Given the description of an element on the screen output the (x, y) to click on. 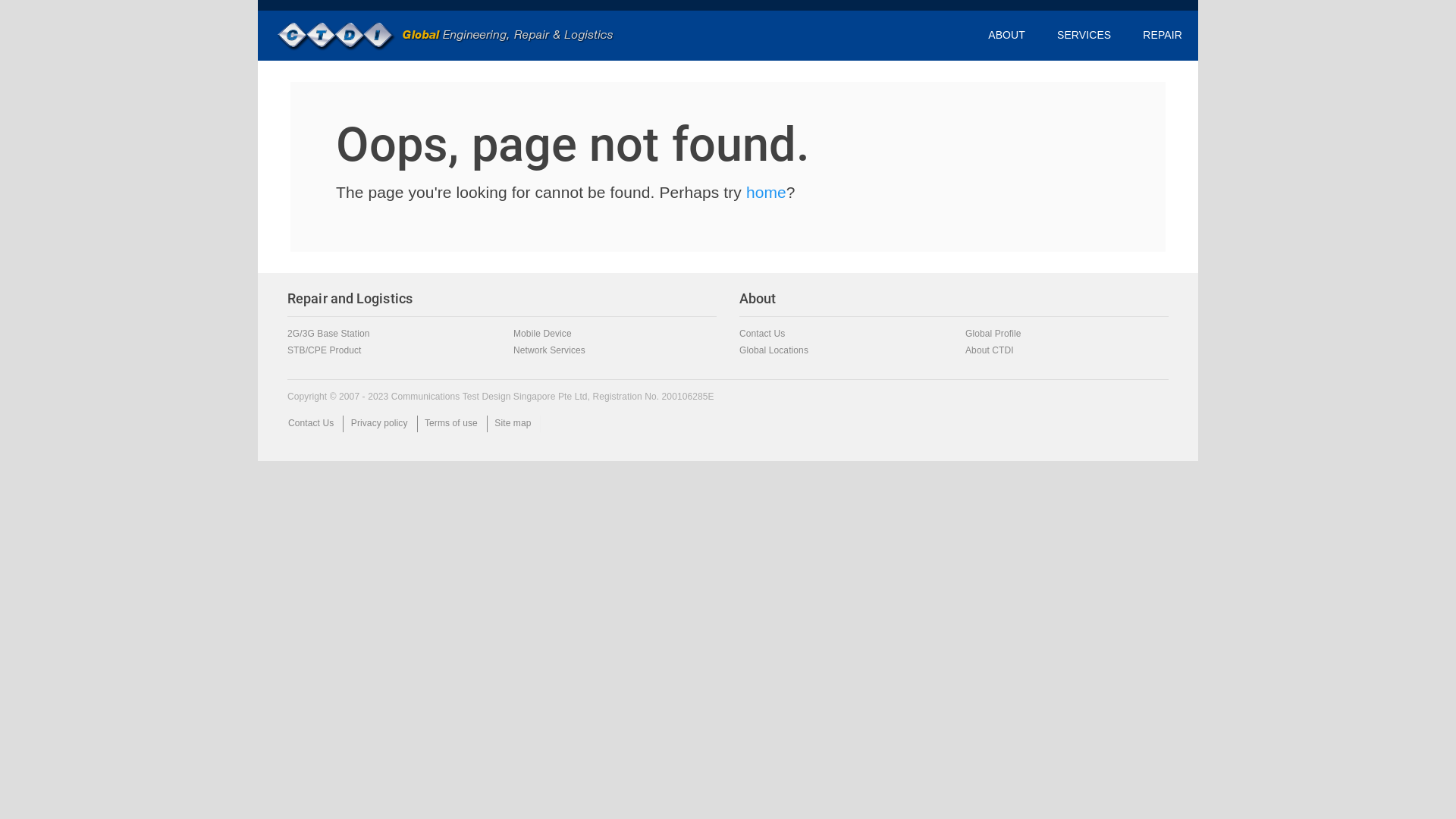
Contact Us Element type: text (761, 333)
SERVICES Element type: text (1083, 35)
Contact Us Element type: text (310, 422)
STB/CPE Product Element type: text (324, 350)
Site map Element type: text (512, 422)
Network Services Element type: text (549, 350)
home Element type: text (766, 191)
Mobile Device Element type: text (542, 333)
About CTDI Element type: text (989, 350)
ABOUT Element type: text (1006, 35)
2G/3G Base Station Element type: text (328, 333)
Privacy policy Element type: text (379, 422)
   Element type: text (445, 34)
REPAIR Element type: text (1162, 35)
Global Locations Element type: text (773, 350)
Global Profile Element type: text (992, 333)
Terms of use Element type: text (450, 422)
